Given the description of an element on the screen output the (x, y) to click on. 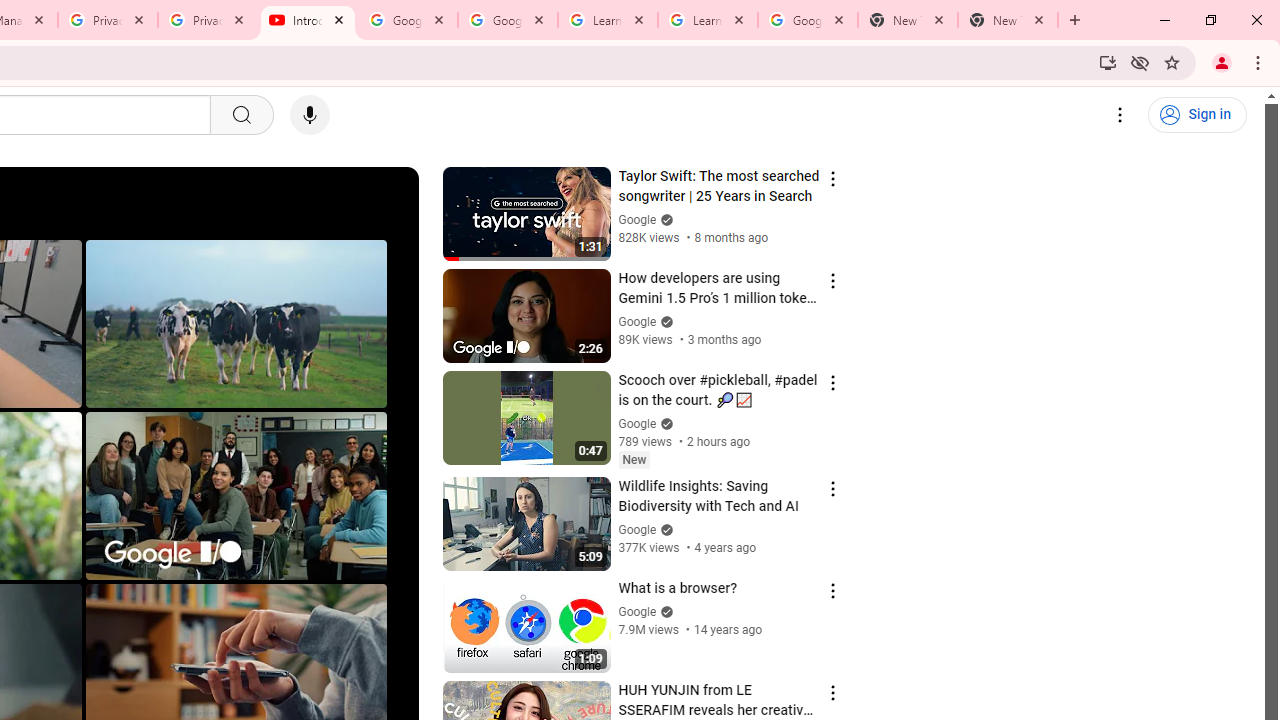
Google Account Help (408, 20)
New Tab (1007, 20)
Settings (1119, 115)
Search with your voice (309, 115)
New Tab (907, 20)
Google Account Help (508, 20)
